Given the description of an element on the screen output the (x, y) to click on. 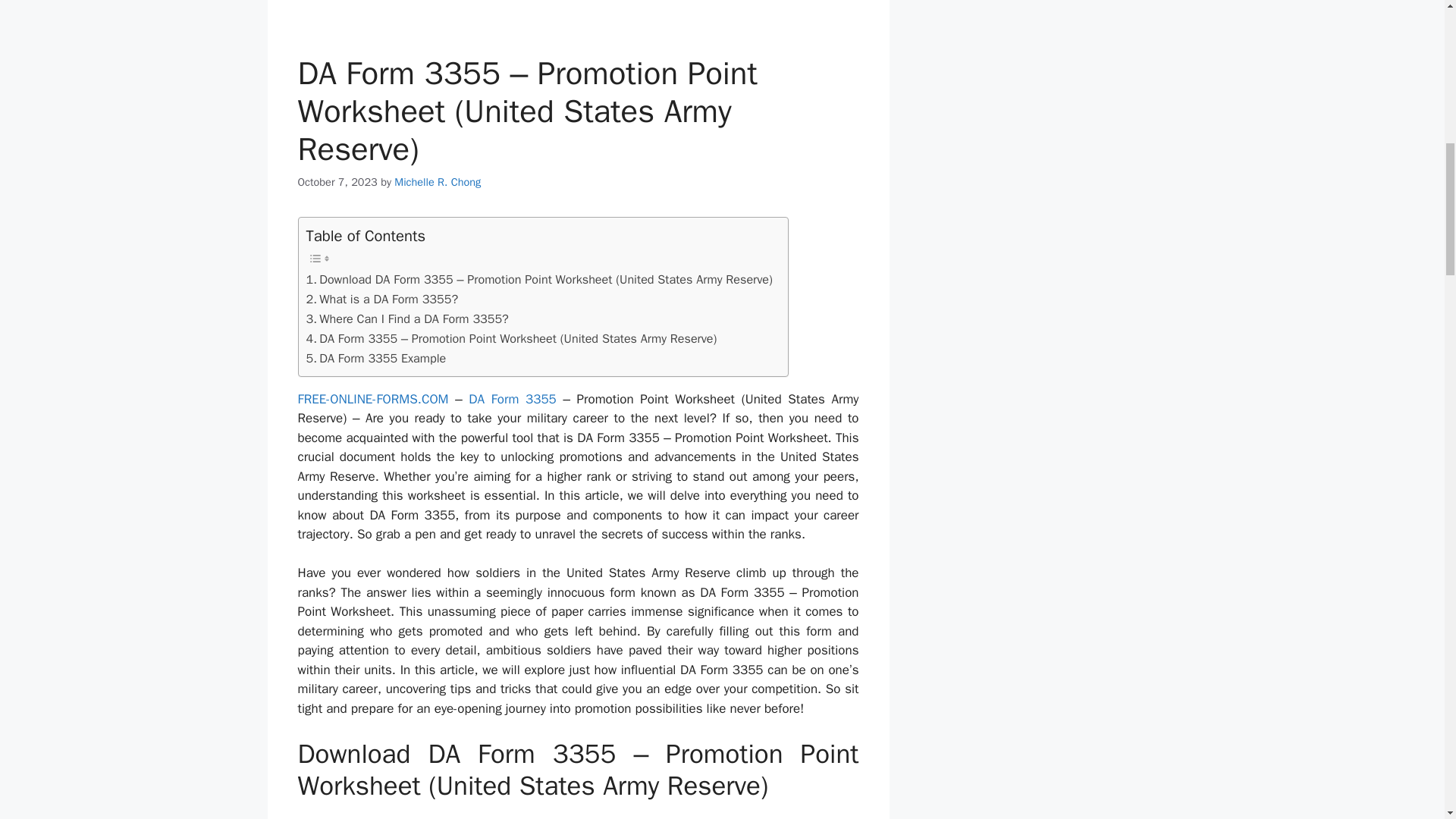
Where Can I Find a DA Form 3355? (406, 319)
View all posts by Michelle R. Chong (437, 182)
DA Form 3355 Example (375, 358)
DA Form 3355 Example (375, 358)
What is a DA Form 3355? (381, 299)
DA Form 3355 Page 1 (578, 14)
DA Form 3355 (512, 399)
What is a DA Form 3355? (381, 299)
Michelle R. Chong (437, 182)
FREE-ONLINE-FORMS.COM (372, 399)
Where Can I Find a DA Form 3355? (406, 319)
